Given the description of an element on the screen output the (x, y) to click on. 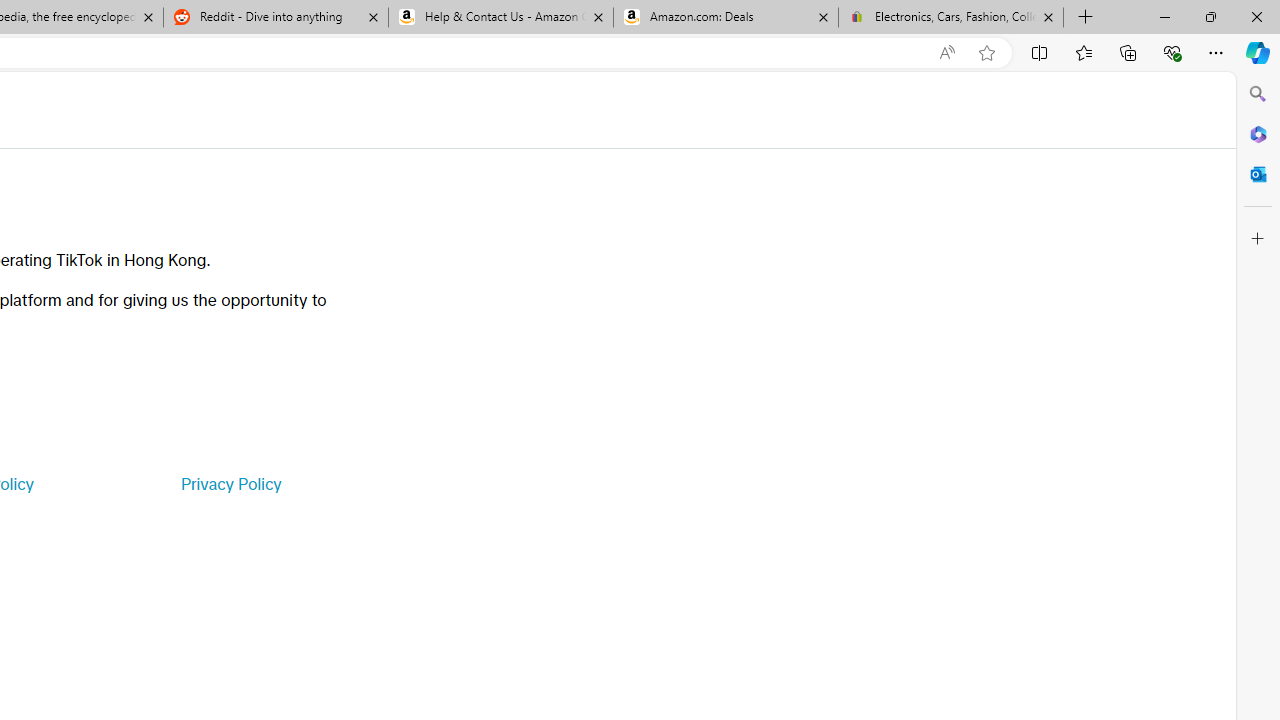
Privacy Policy (230, 484)
